Given the description of an element on the screen output the (x, y) to click on. 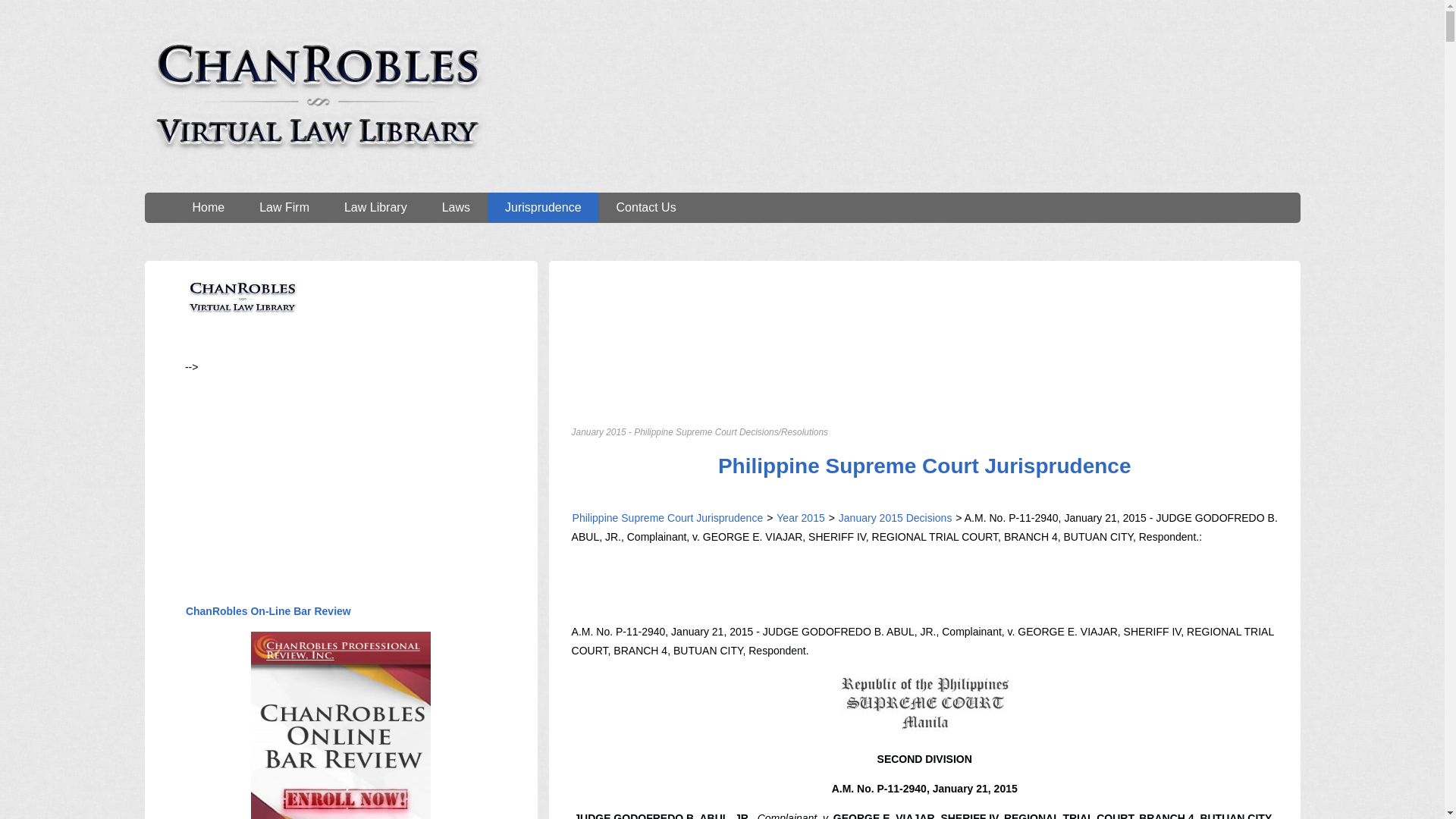
Law Library (375, 207)
ChanRobles On-Line Bar Review (268, 611)
January 2015 Decisions (893, 517)
Contact Us (646, 207)
Laws (456, 207)
Year 2015 (800, 517)
Jurisprudence (542, 207)
Law Firm (283, 207)
Home (207, 207)
Philippine Supreme Court Jurisprudence (924, 465)
